Given the description of an element on the screen output the (x, y) to click on. 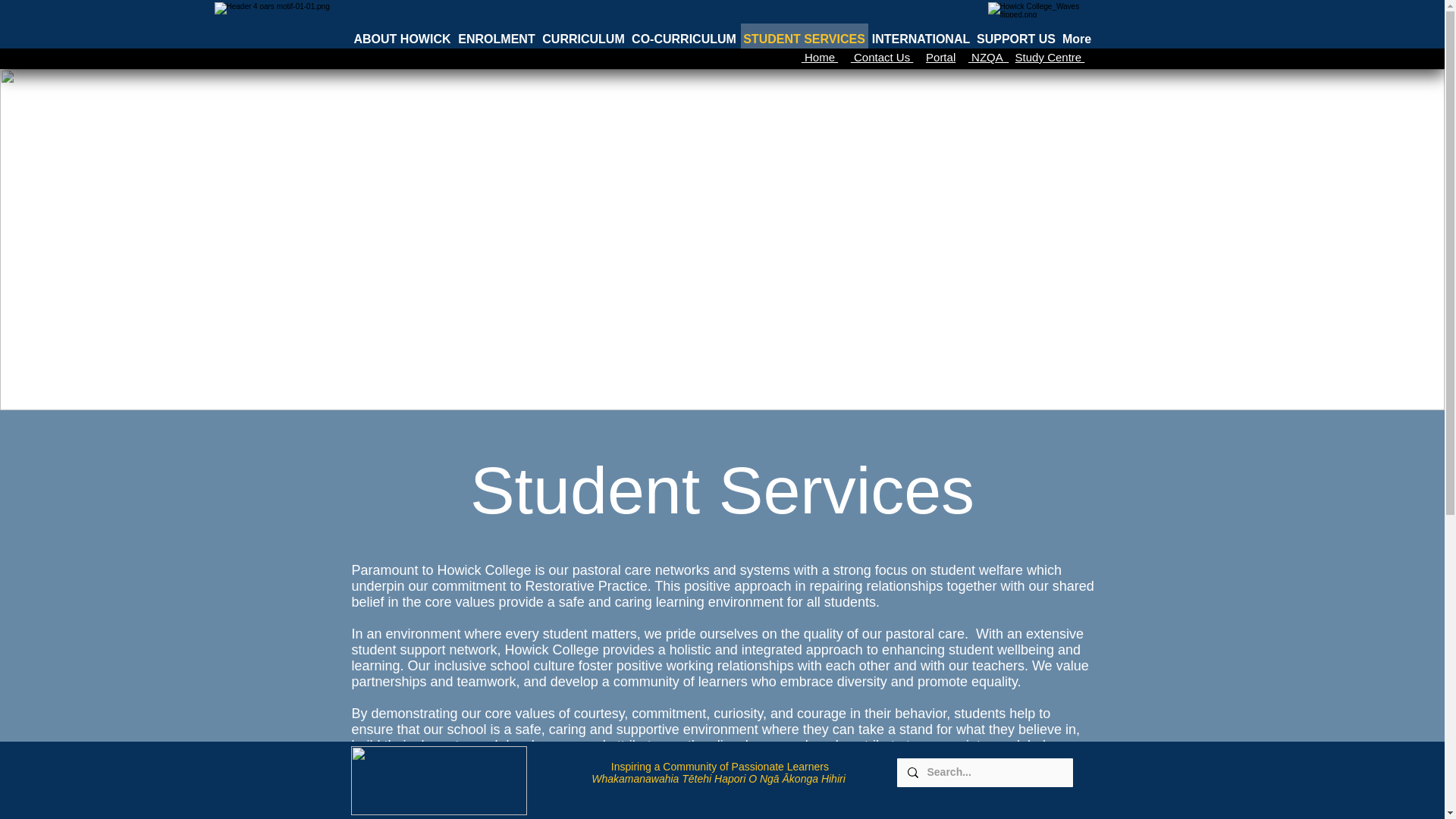
j10281 - Howick College - Four Oars scho (437, 780)
STUDENT SERVICES (804, 39)
CURRICULUM (582, 39)
ENROLMENT (496, 39)
CO-CURRICULUM (683, 39)
ABOUT HOWICK (402, 39)
